Given the description of an element on the screen output the (x, y) to click on. 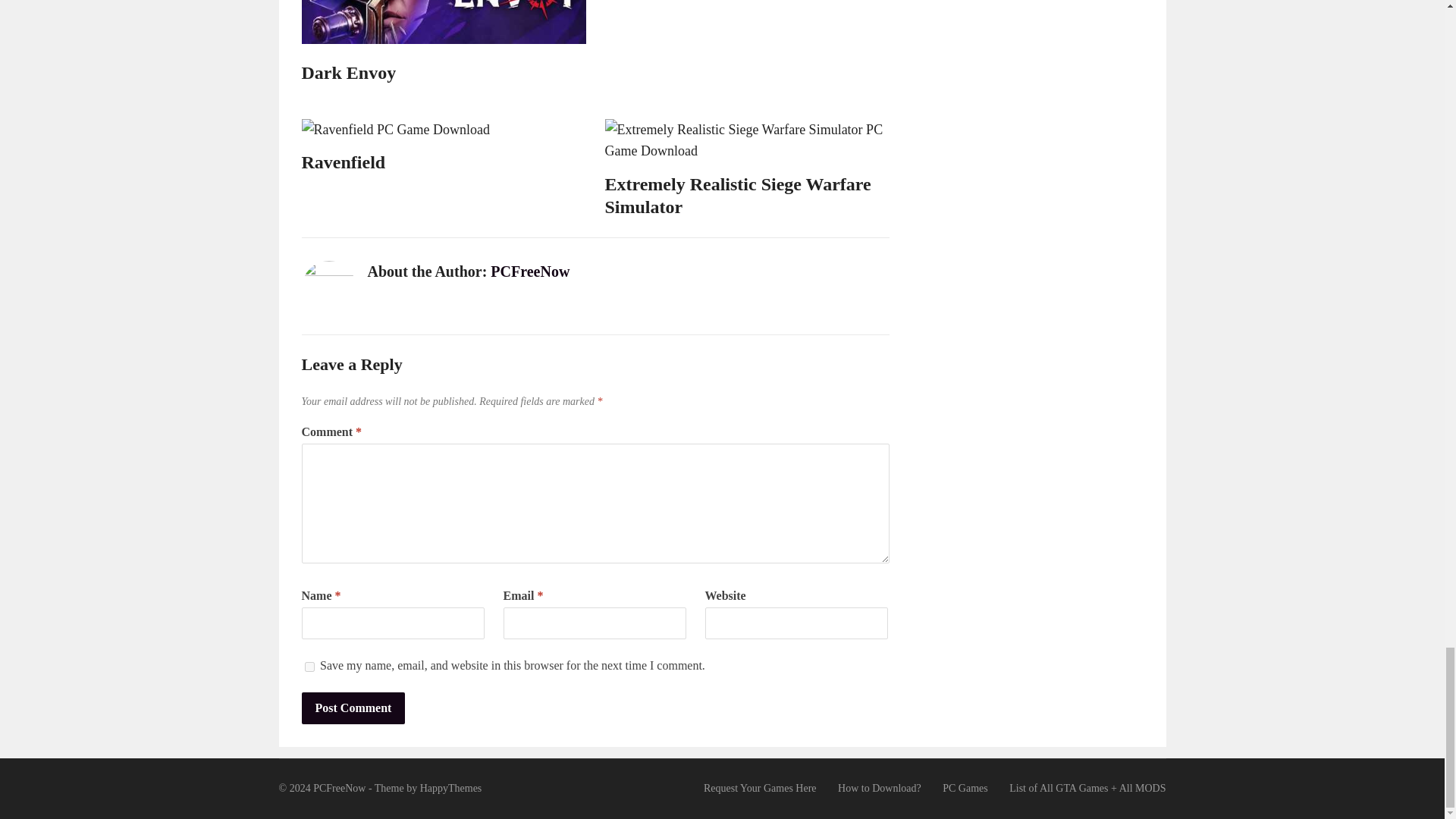
Post Comment (353, 707)
Dark Envoy (348, 72)
Ravenfield (343, 161)
yes (309, 666)
